Given the description of an element on the screen output the (x, y) to click on. 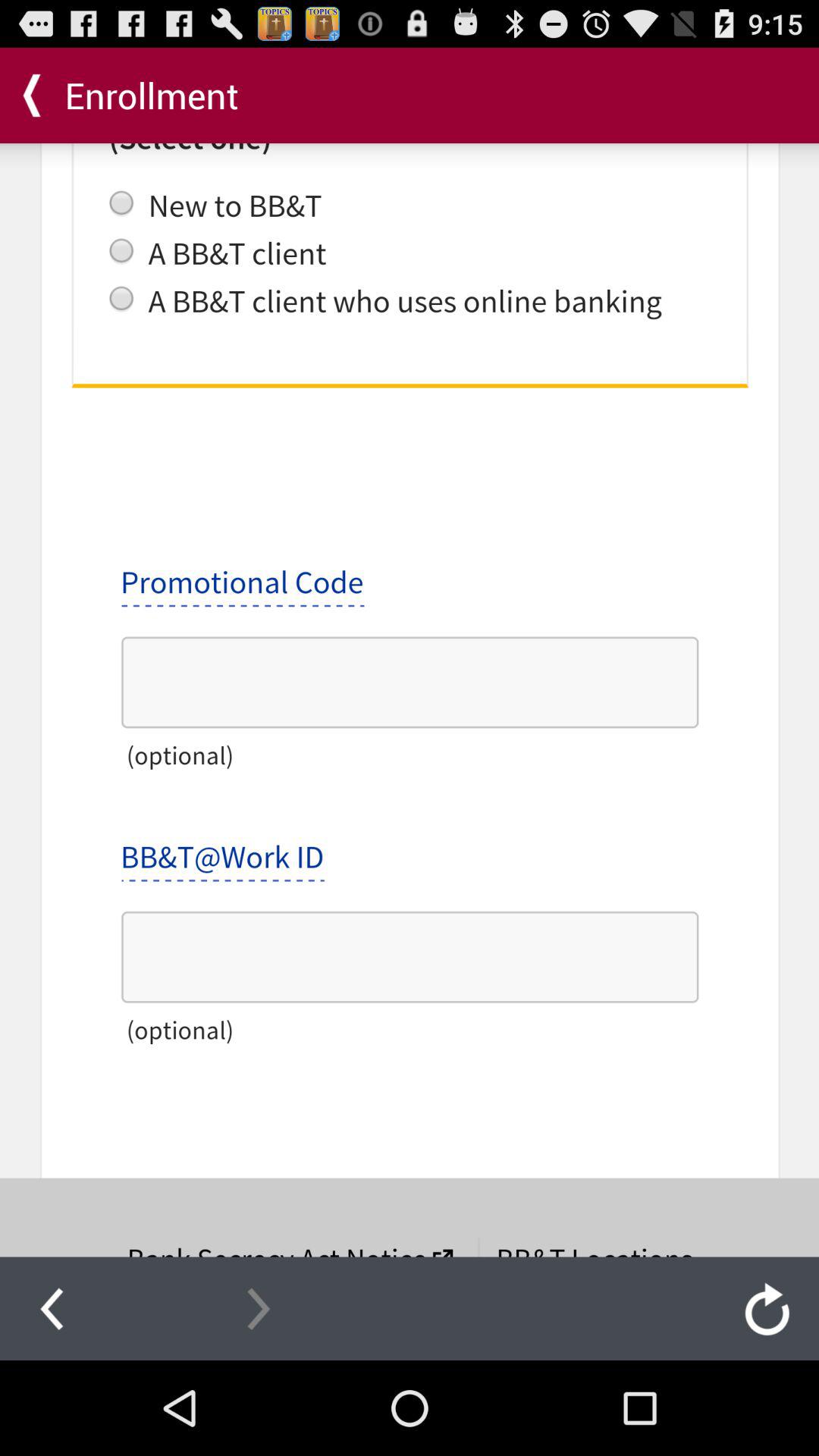
go to back arrow (51, 1308)
